Given the description of an element on the screen output the (x, y) to click on. 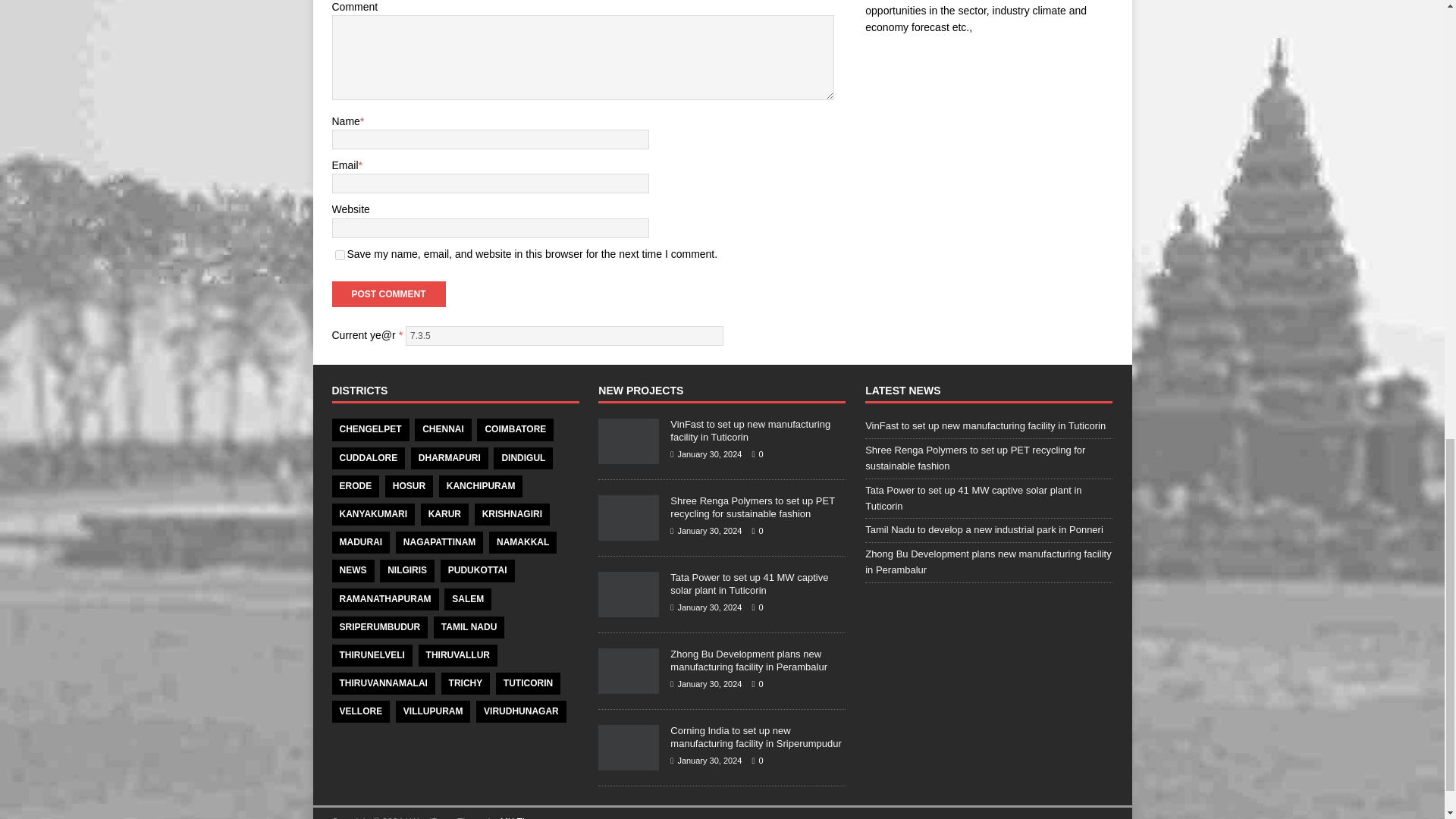
Post Comment (388, 294)
Tata Power to set up 41 MW captive solar plant in Tuticorin (628, 609)
yes (339, 255)
7.3.5 (564, 335)
VinFast to set up new manufacturing facility in Tuticorin (628, 455)
VinFast to set up new manufacturing facility in Tuticorin (749, 430)
Post Comment (388, 294)
Tata Power to set up 41 MW captive solar plant in Tuticorin (748, 583)
